Given the description of an element on the screen output the (x, y) to click on. 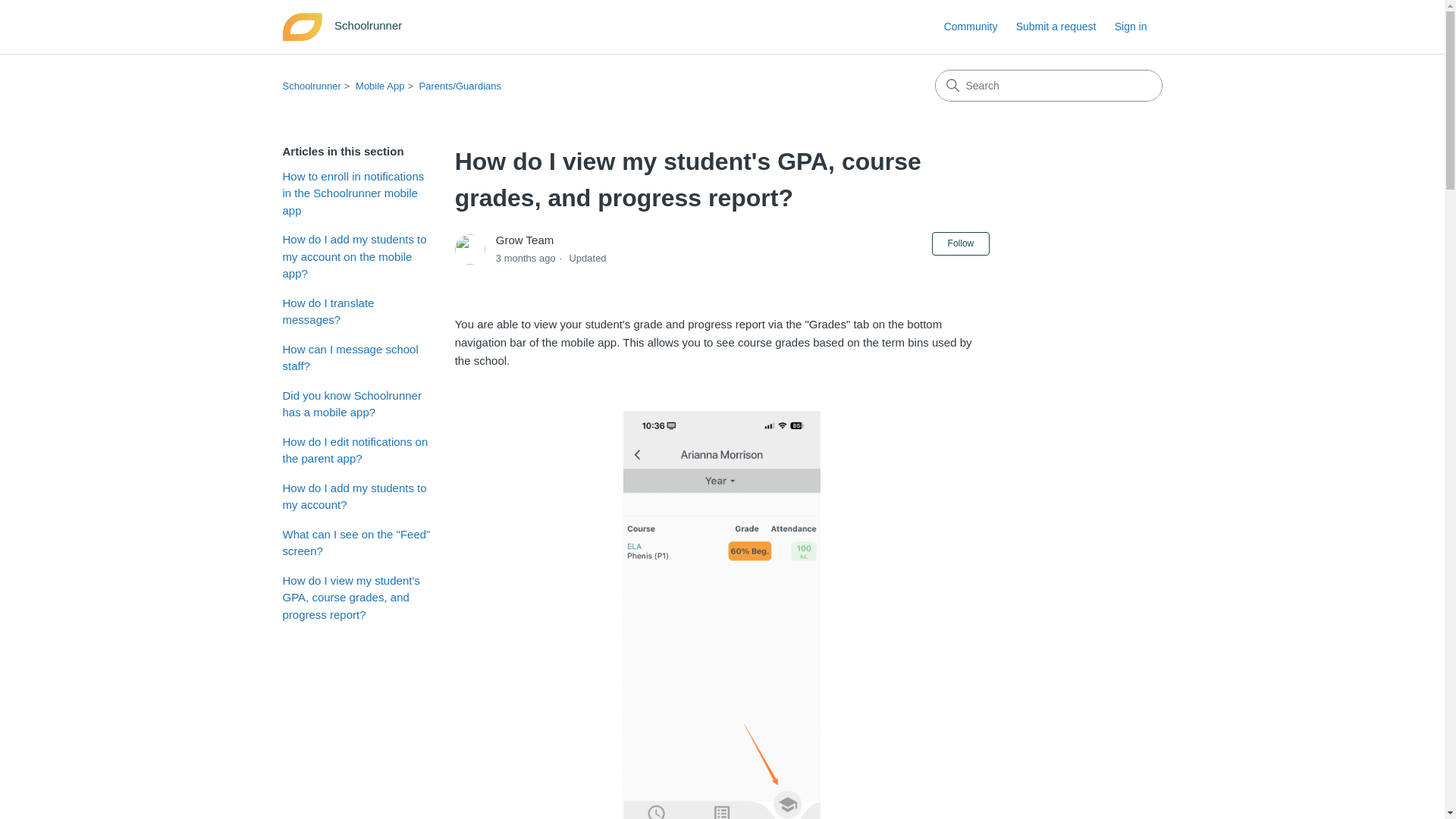
How do I edit notifications on the parent app? (356, 450)
Submit a request (1064, 26)
How do I translate messages? (356, 311)
How do I add my students to my account on the mobile app? (356, 256)
Sign in (1138, 26)
Did you know Schoolrunner has a mobile app? (356, 403)
Home (345, 26)
Mobile App (379, 85)
2024-05-10 01:10 (526, 257)
How do I add my students to my account? (356, 496)
Schoolrunner (311, 85)
Opens a dialog (1138, 26)
What can I see on the "Feed" screen? (356, 543)
Schoolrunner (345, 26)
How can I message school staff? (356, 358)
